Given the description of an element on the screen output the (x, y) to click on. 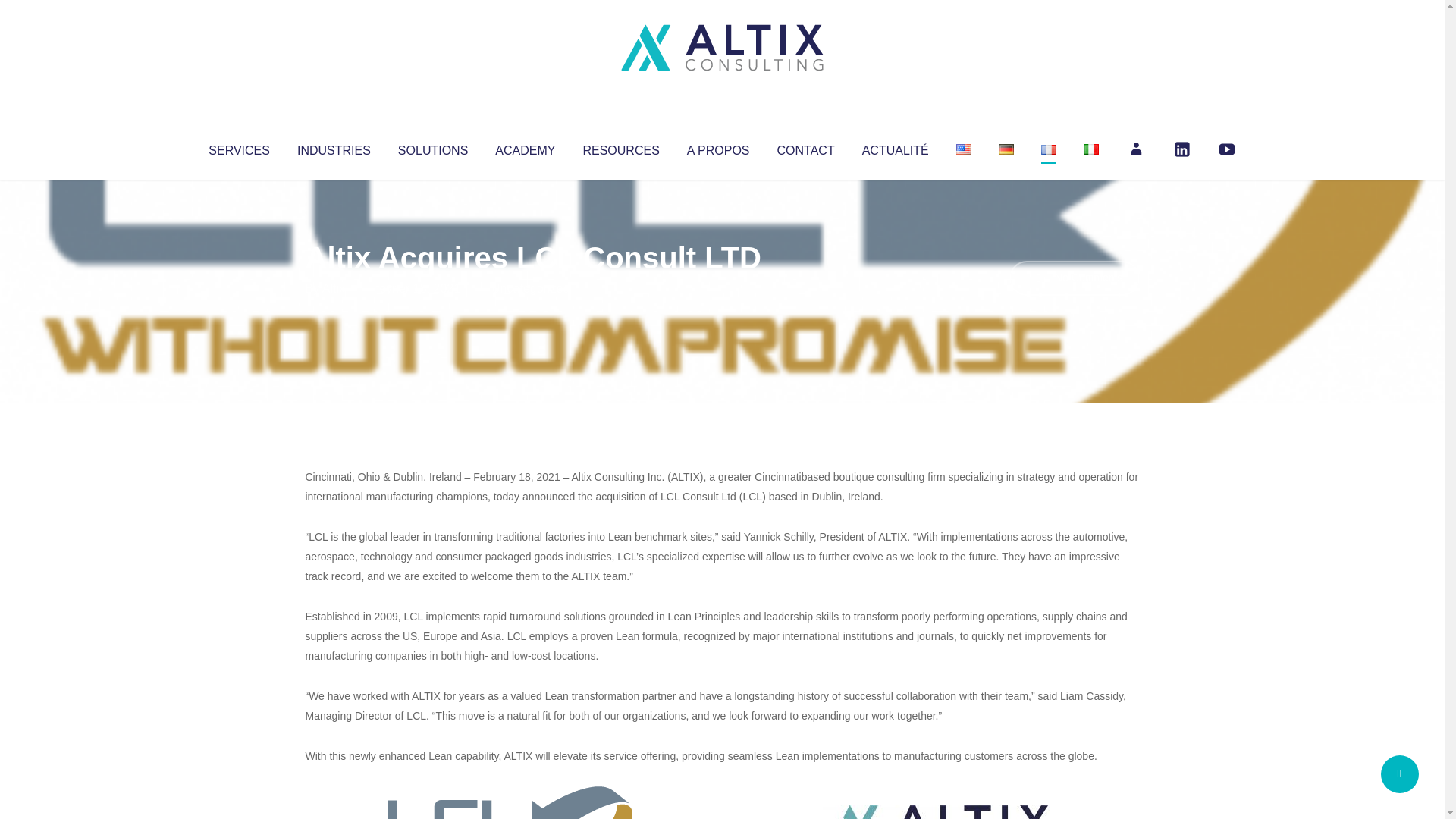
Altix (333, 287)
A PROPOS (718, 146)
Articles par Altix (333, 287)
SOLUTIONS (432, 146)
INDUSTRIES (334, 146)
RESOURCES (620, 146)
ACADEMY (524, 146)
SERVICES (238, 146)
Uncategorized (530, 287)
No Comments (1073, 278)
